Given the description of an element on the screen output the (x, y) to click on. 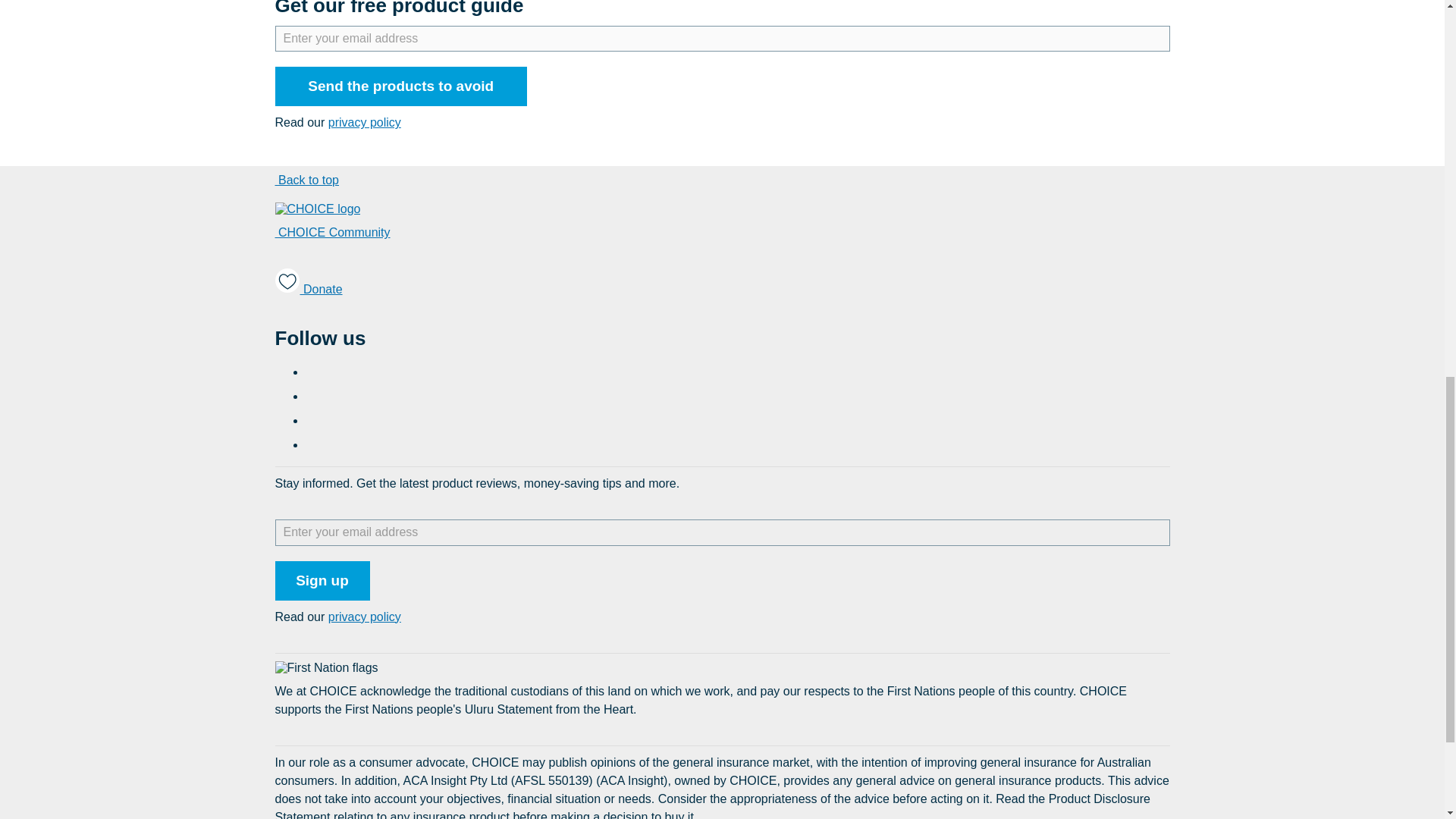
Send the products to avoid (401, 86)
CHOICE Community (332, 232)
Back to top (307, 180)
Donate (308, 283)
privacy policy (365, 122)
privacy policy (365, 617)
Sign up (322, 580)
